Given the description of an element on the screen output the (x, y) to click on. 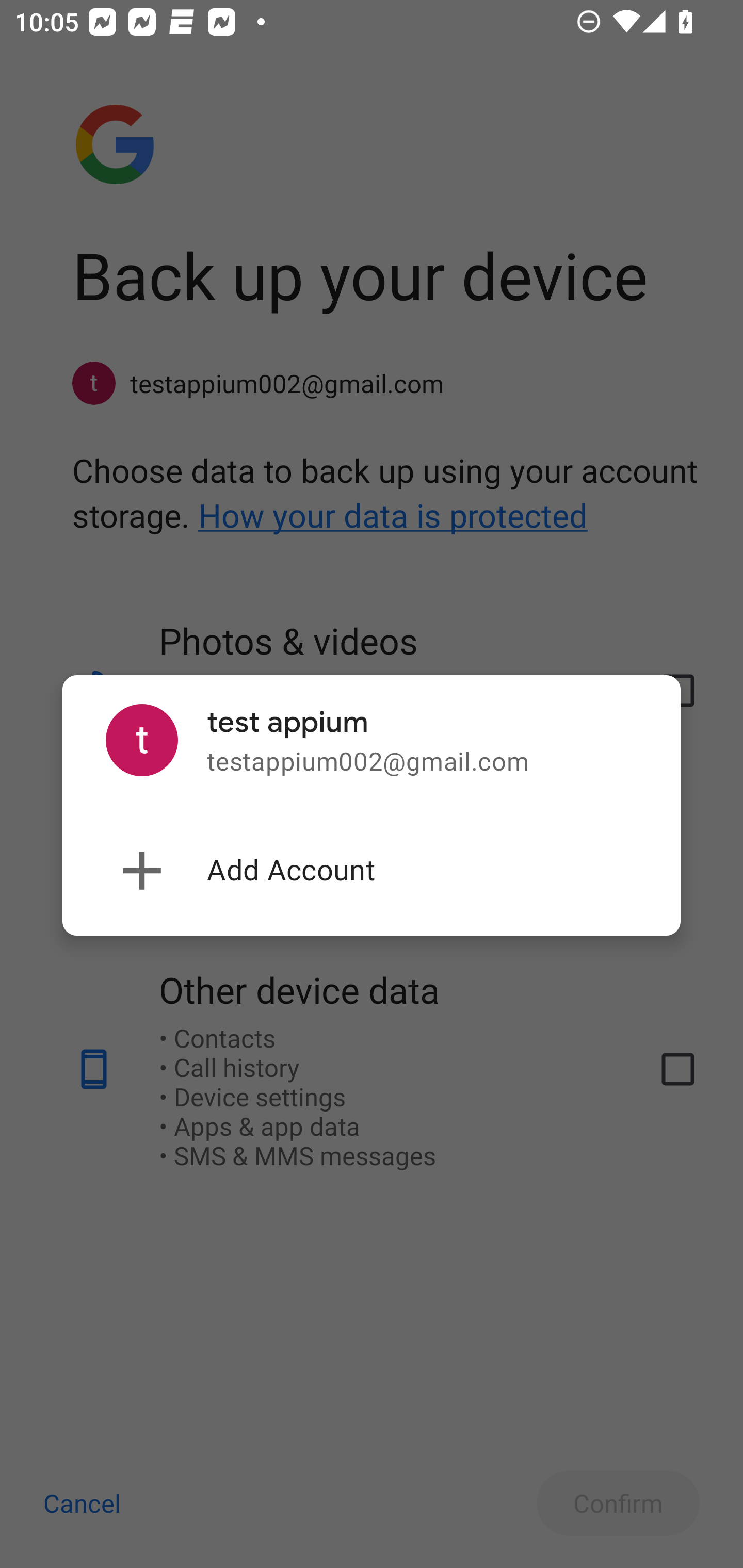
test appium testappium002@gmail.com (371, 740)
Add Account (371, 870)
